Given the description of an element on the screen output the (x, y) to click on. 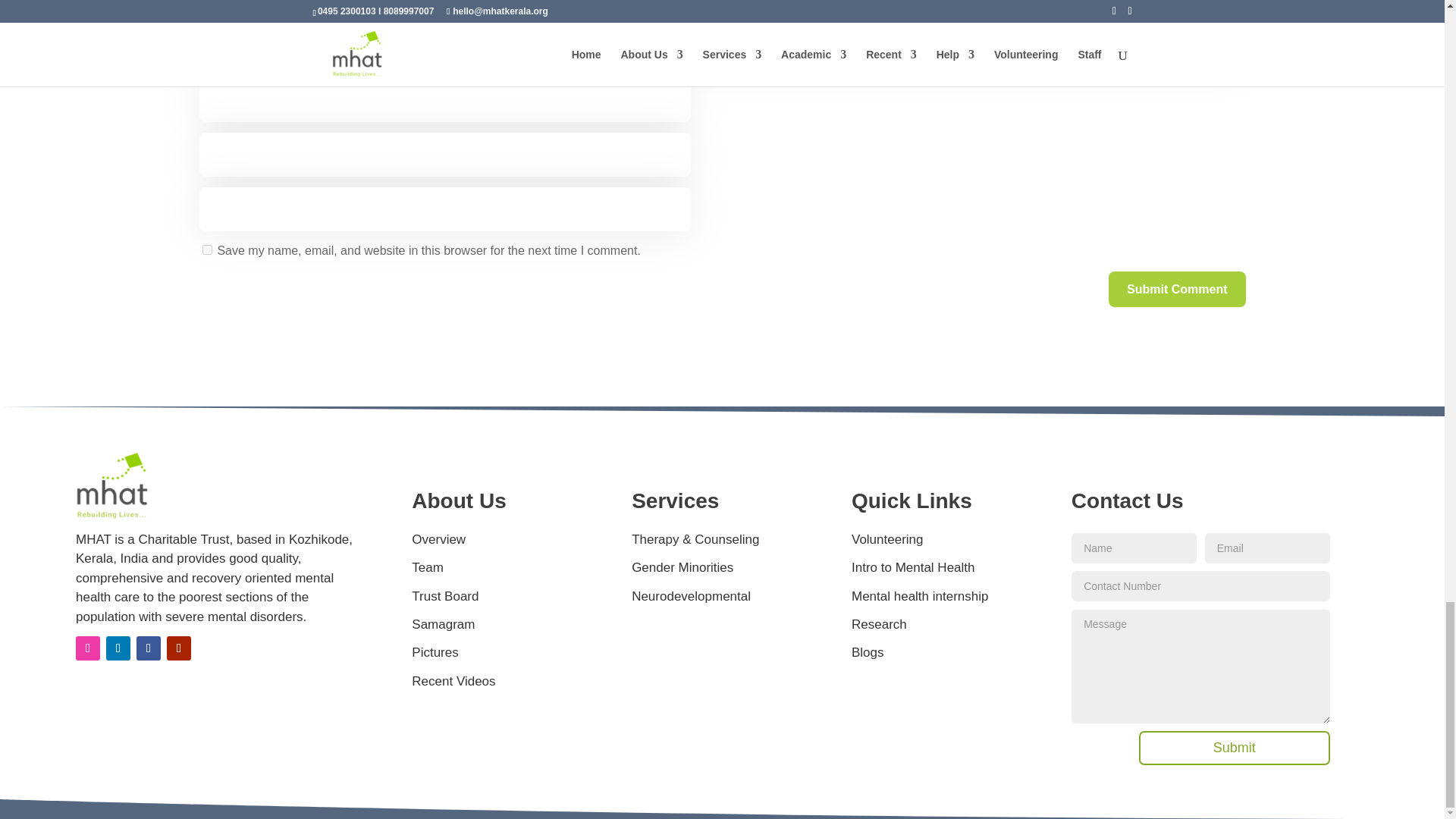
Follow on Youtube (178, 648)
yes (206, 249)
Follow on LinkedIn (118, 648)
Follow on Facebook (148, 648)
Follow on Instagram (87, 648)
